Given the description of an element on the screen output the (x, y) to click on. 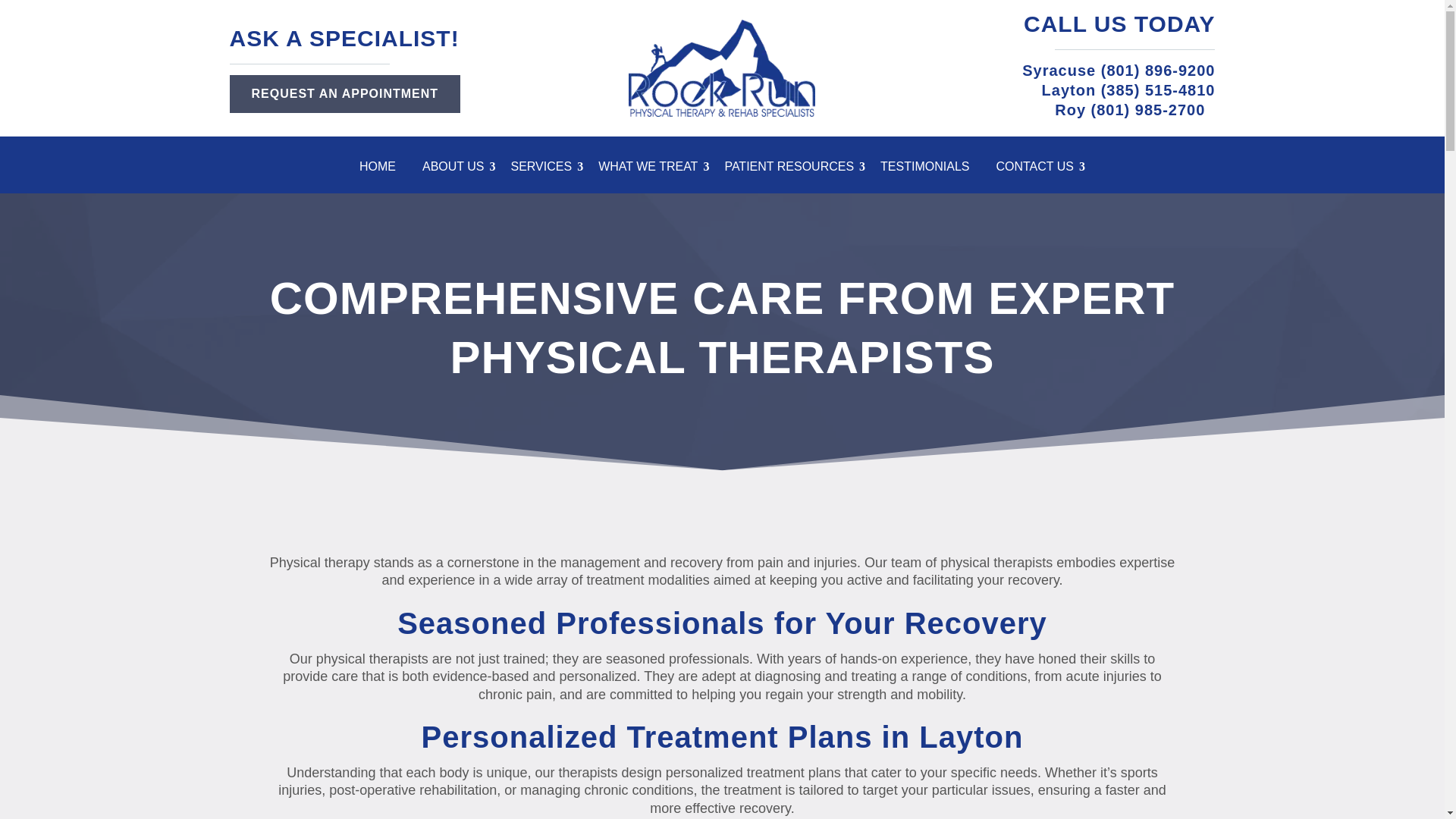
15388 Rehab CEOs Logo -01 (721, 68)
CONTACT US (1039, 169)
TESTIMONIALS (929, 169)
REQUEST AN APPOINTMENT (344, 93)
HOME (383, 169)
SERVICES (547, 169)
ABOUT US (459, 169)
WHAT WE TREAT (653, 169)
PATIENT RESOURCES (793, 169)
